Given the description of an element on the screen output the (x, y) to click on. 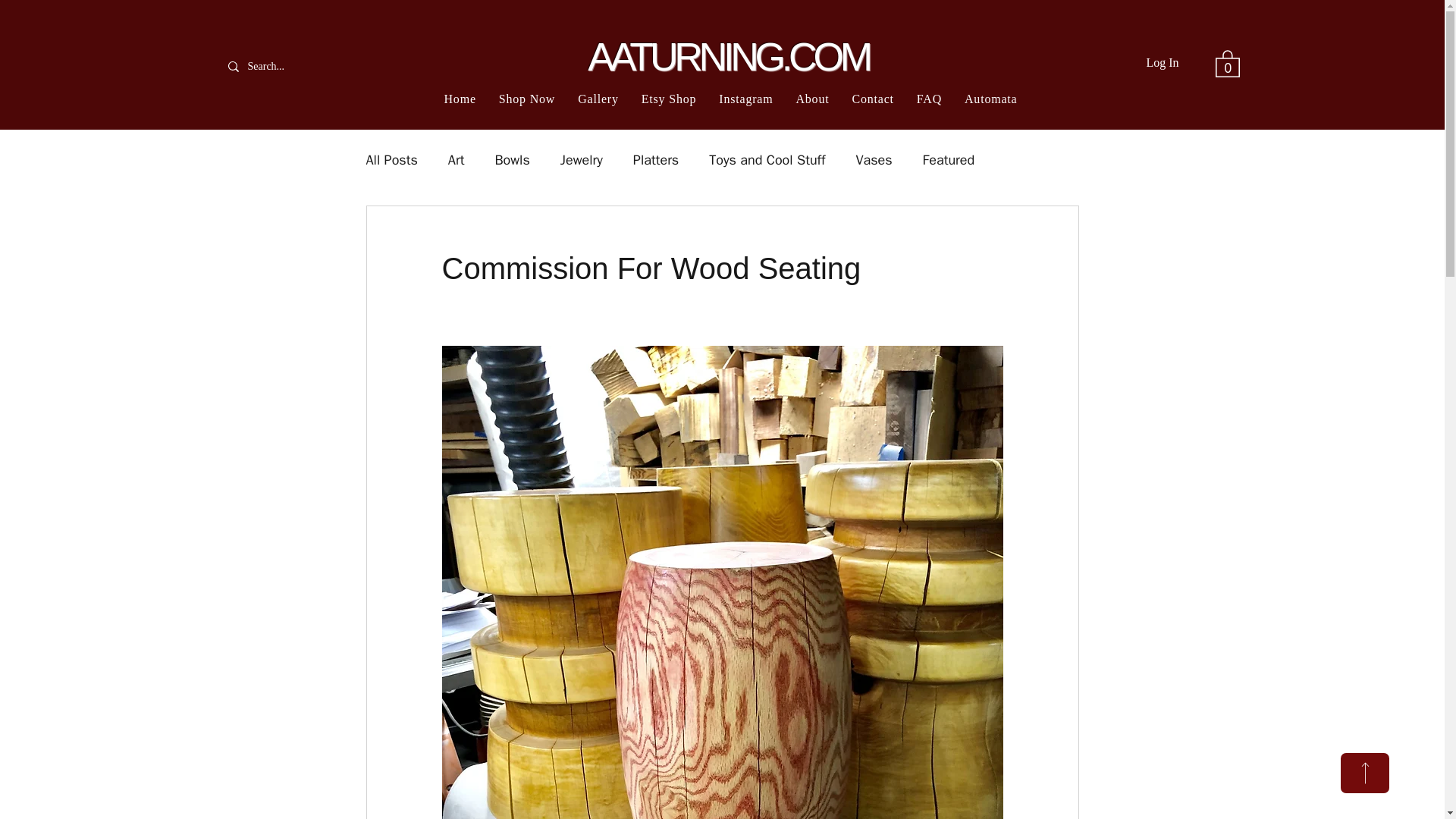
Jewelry (581, 159)
Platters (655, 159)
Art (456, 159)
Log In (1162, 62)
Automata (990, 99)
Shop Now (526, 99)
Gallery (598, 99)
About (812, 99)
All Posts (390, 159)
FAQ (929, 99)
Toys and Cool Stuff (767, 159)
Etsy Shop (668, 99)
Vases (873, 159)
Bowls (512, 159)
Featured (949, 159)
